Given the description of an element on the screen output the (x, y) to click on. 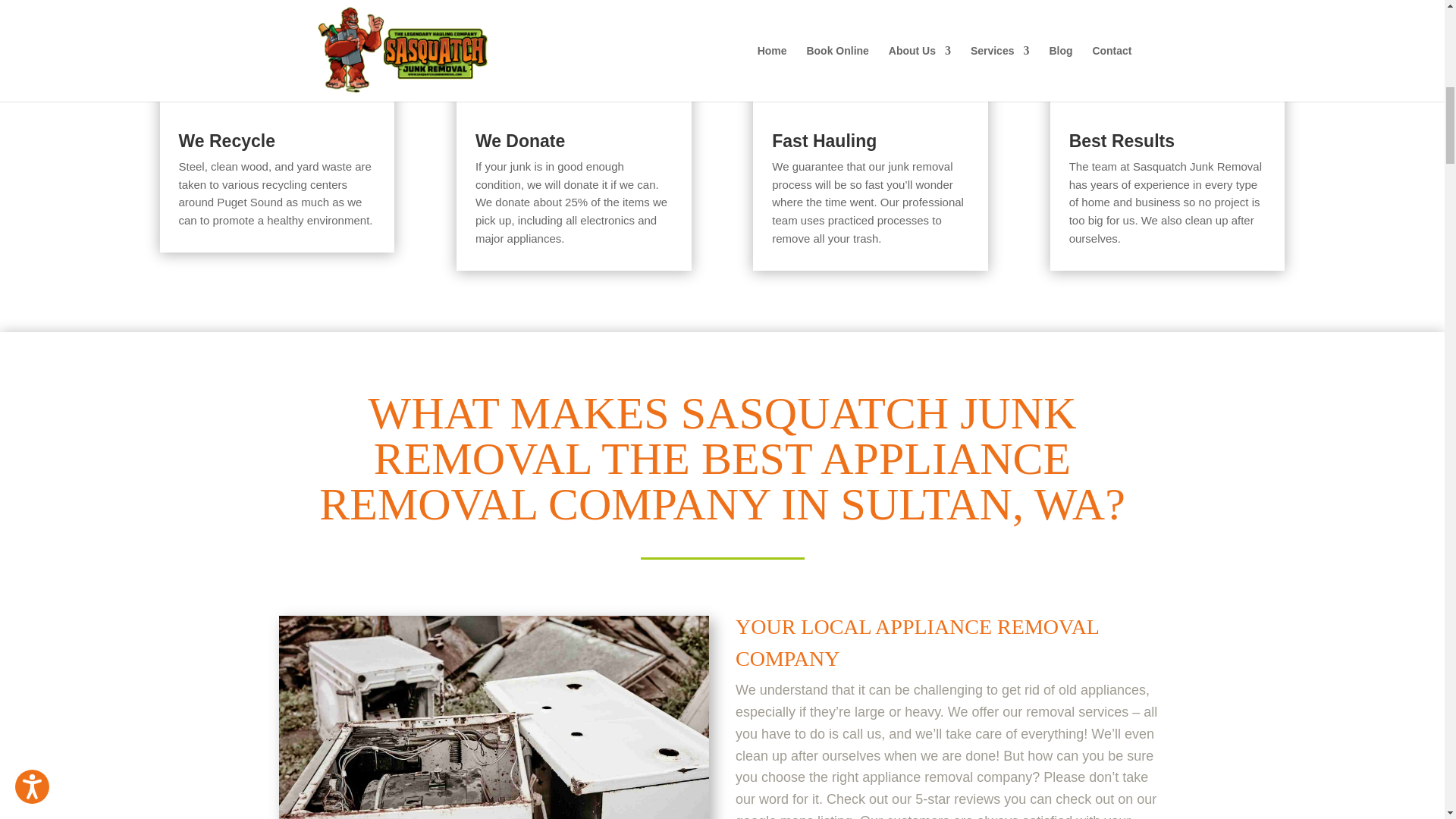
we recycle (276, 50)
professional appliance removal (494, 717)
we-donate-1 (574, 50)
fast-haul-1 (870, 50)
best-results-1 (1167, 50)
